Given the description of an element on the screen output the (x, y) to click on. 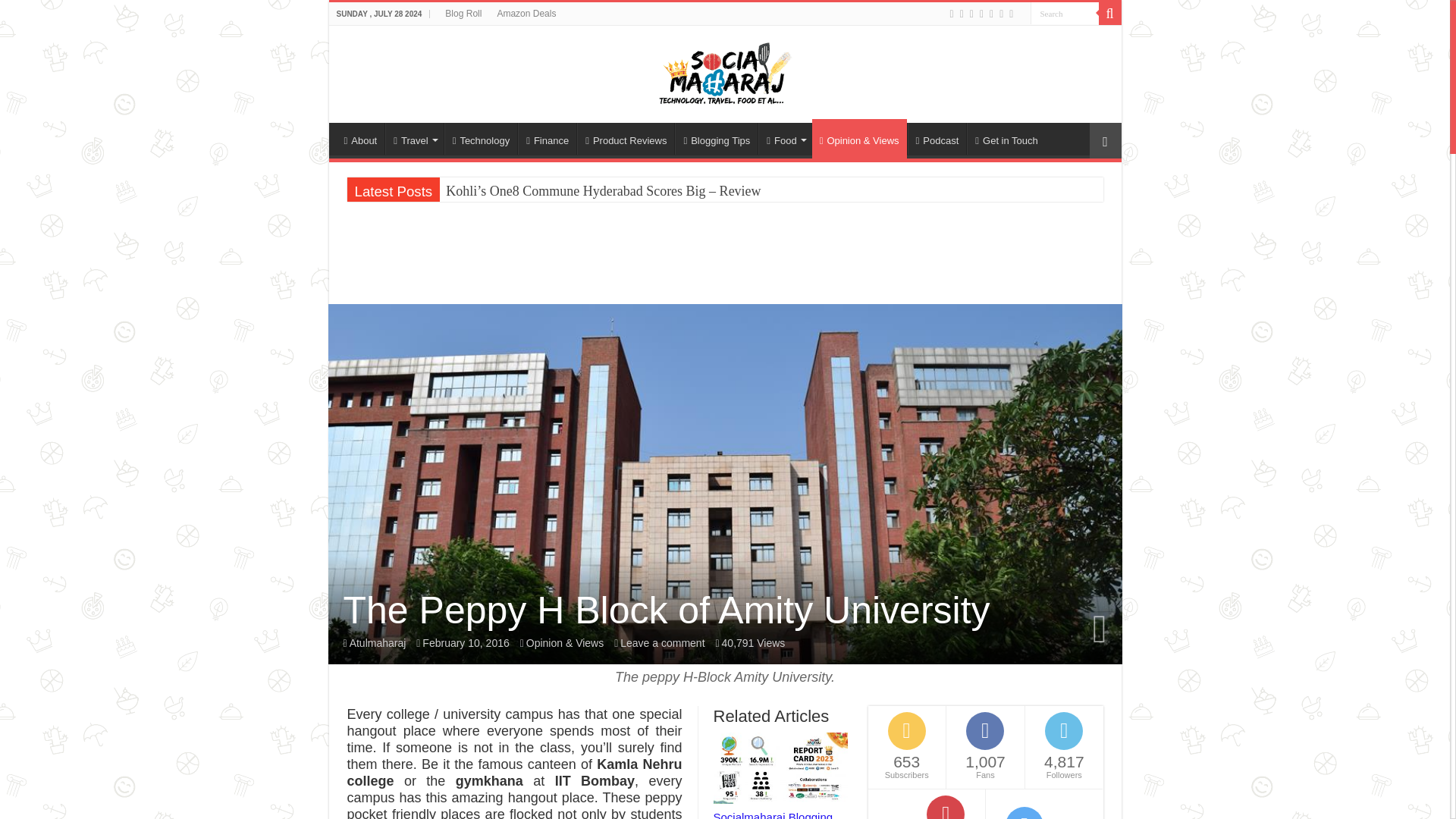
Podcast (936, 138)
Blogging Tips (716, 138)
Get in Touch (1005, 138)
Product Reviews (625, 138)
Amazon Deals (526, 13)
Travel (413, 138)
Search (1063, 13)
Search (1063, 13)
Finance (547, 138)
About (360, 138)
Search (1063, 13)
Food (784, 138)
Blog Roll (463, 13)
Search (1109, 13)
Technology (481, 138)
